Given the description of an element on the screen output the (x, y) to click on. 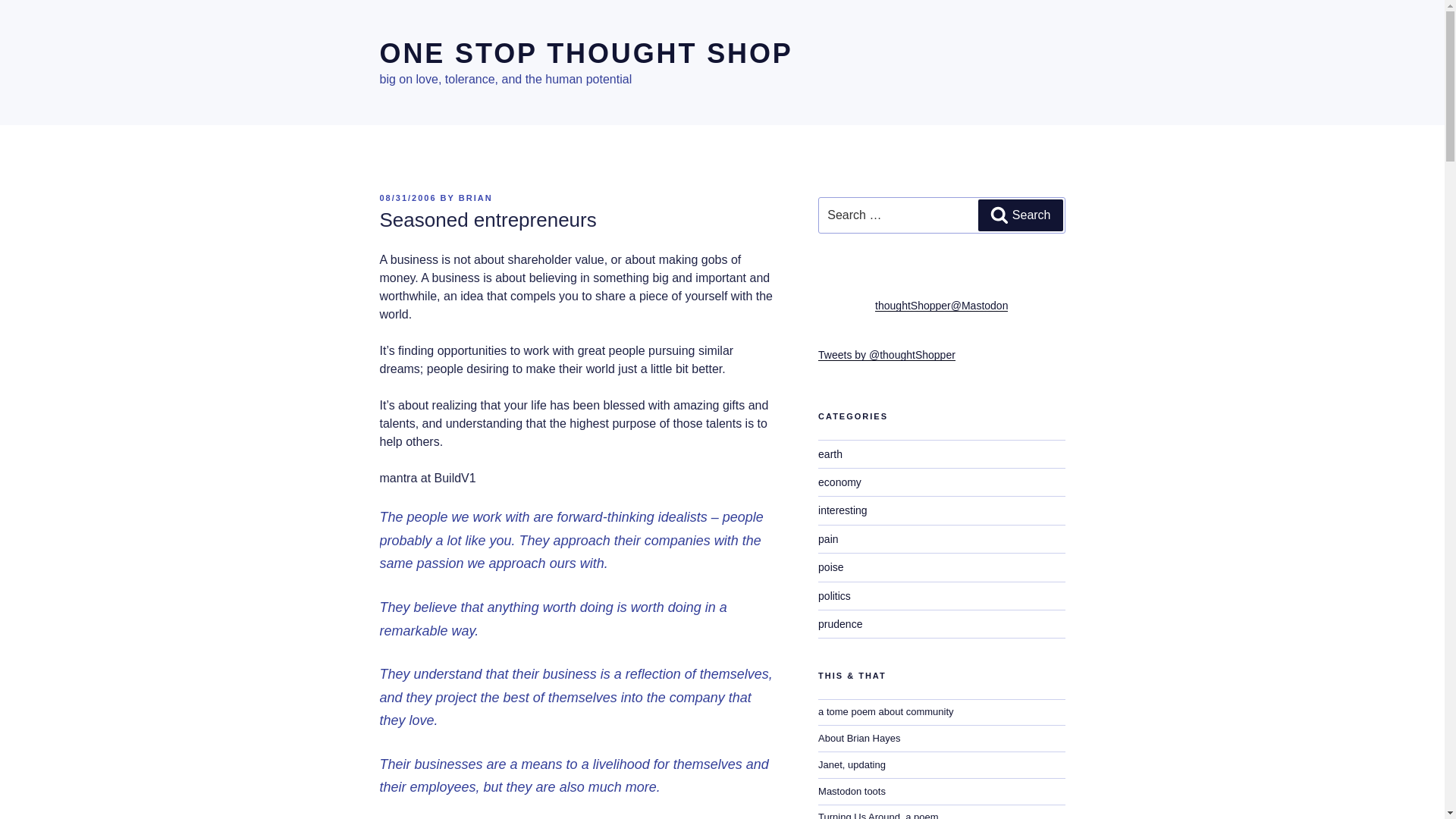
pain (828, 539)
interesting (842, 510)
About Brian Hayes (858, 737)
poise (830, 567)
economy (839, 481)
a tome poem about community (885, 711)
Search (1020, 214)
politics (834, 595)
prudence (839, 623)
Mastodon toots (851, 790)
